Given the description of an element on the screen output the (x, y) to click on. 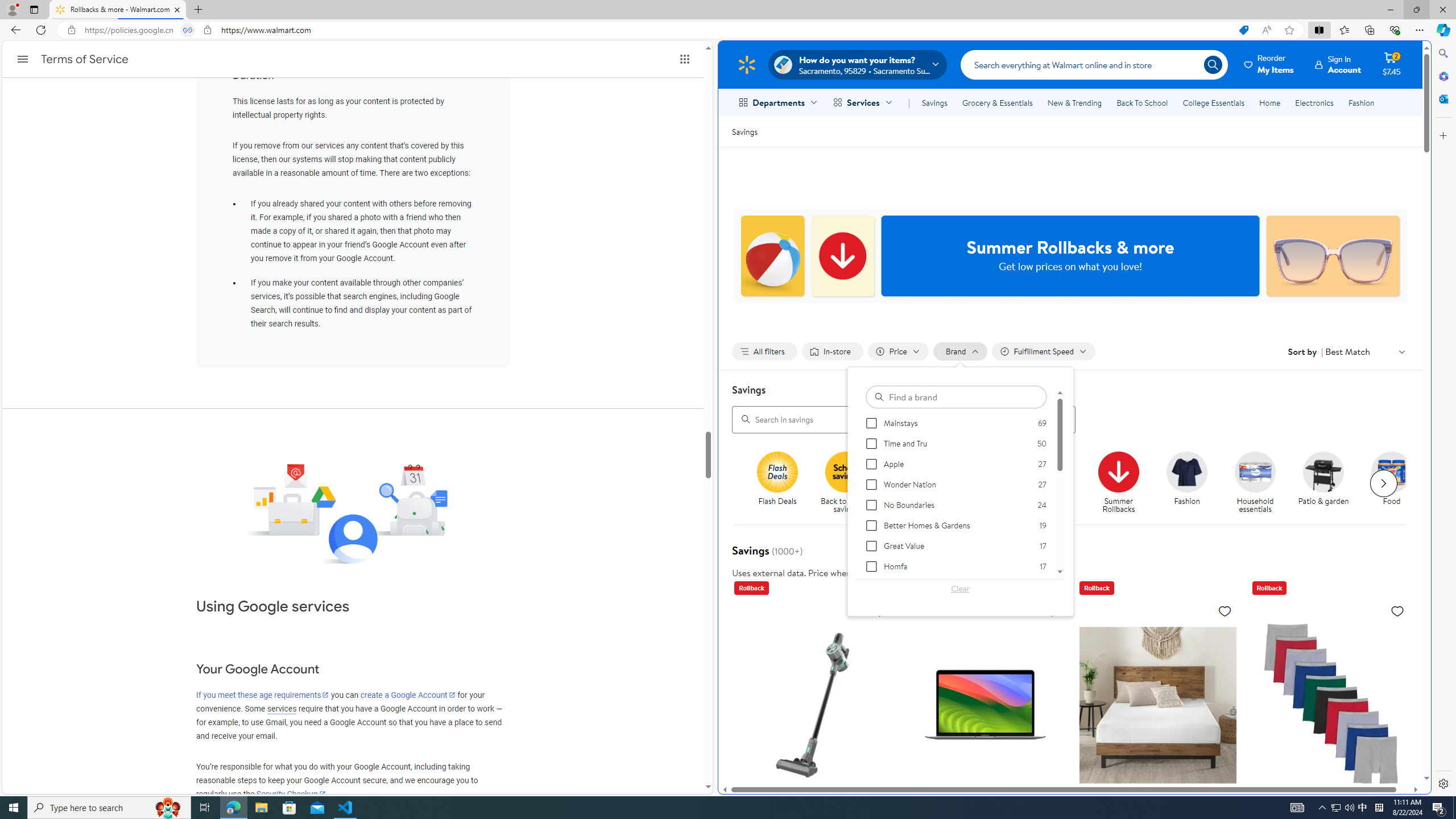
Household essentials (1259, 483)
Summer Rollbacks (1123, 483)
Electronics (1314, 102)
Home (1269, 102)
Grocery & Essentials (997, 102)
Close Search pane (1442, 53)
Patio & garden (1323, 471)
